Given the description of an element on the screen output the (x, y) to click on. 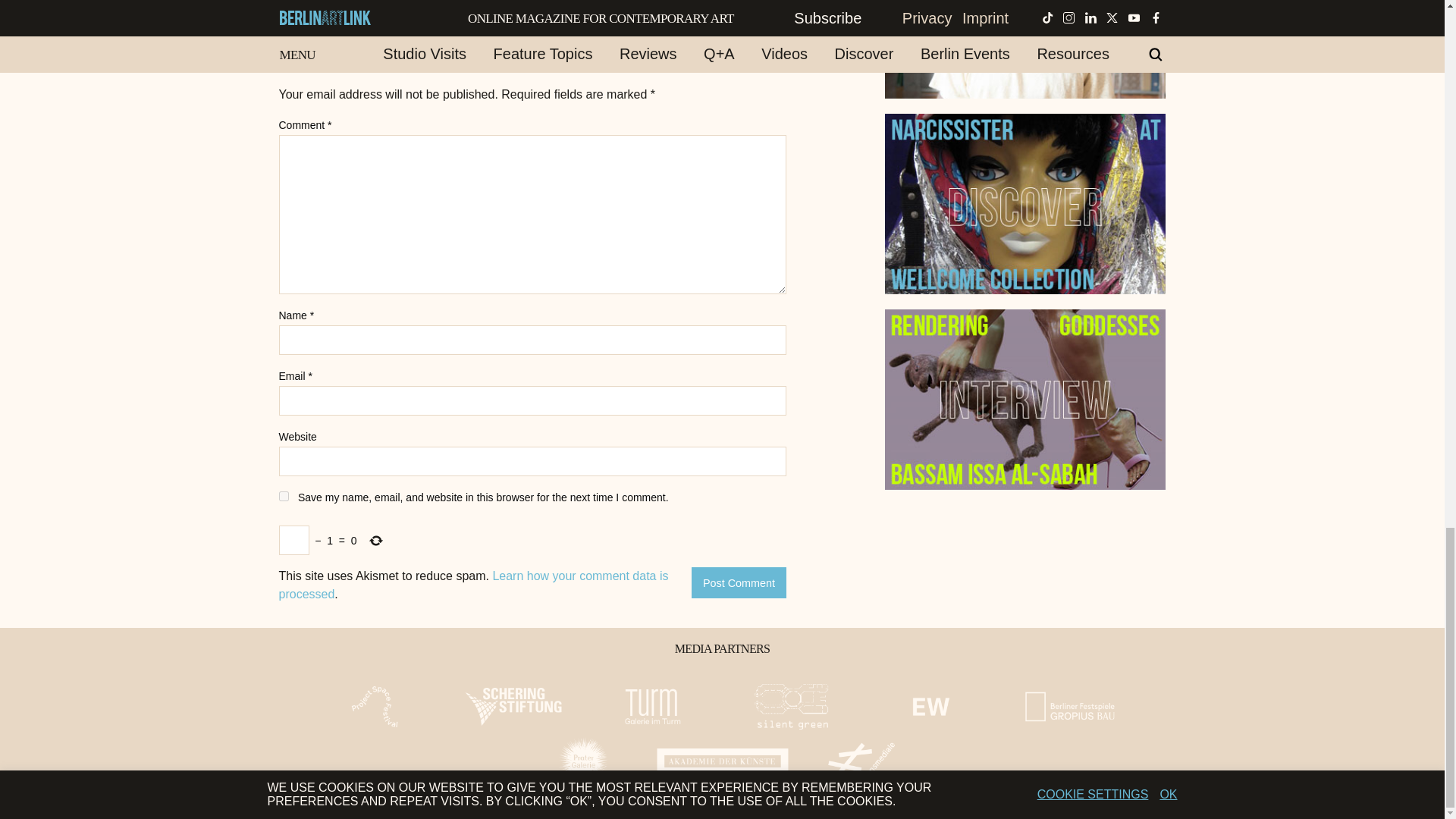
yes (283, 496)
Post Comment (739, 582)
